Given the description of an element on the screen output the (x, y) to click on. 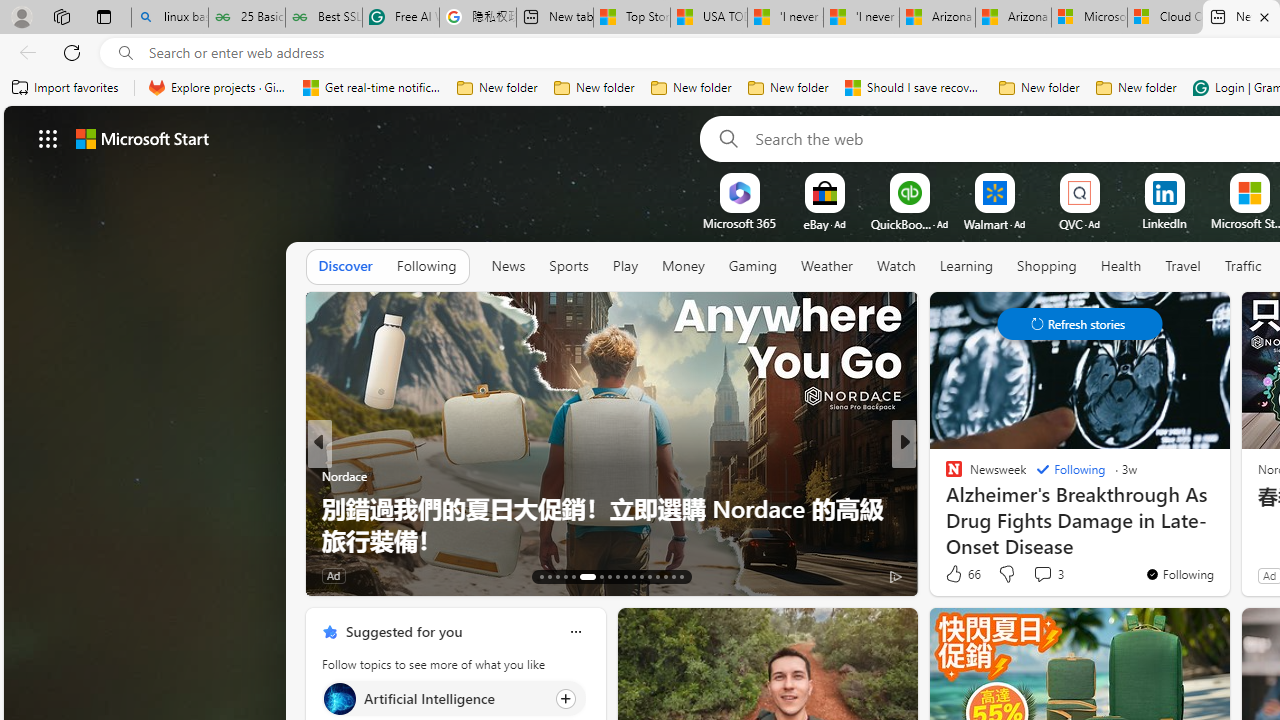
AutomationID: tab-27 (664, 576)
Free AI Writing Assistance for Students | Grammarly (401, 17)
AutomationID: tab-22 (624, 576)
34 Like (956, 574)
Click to follow topic Artificial Intelligence (453, 698)
